Given the description of an element on the screen output the (x, y) to click on. 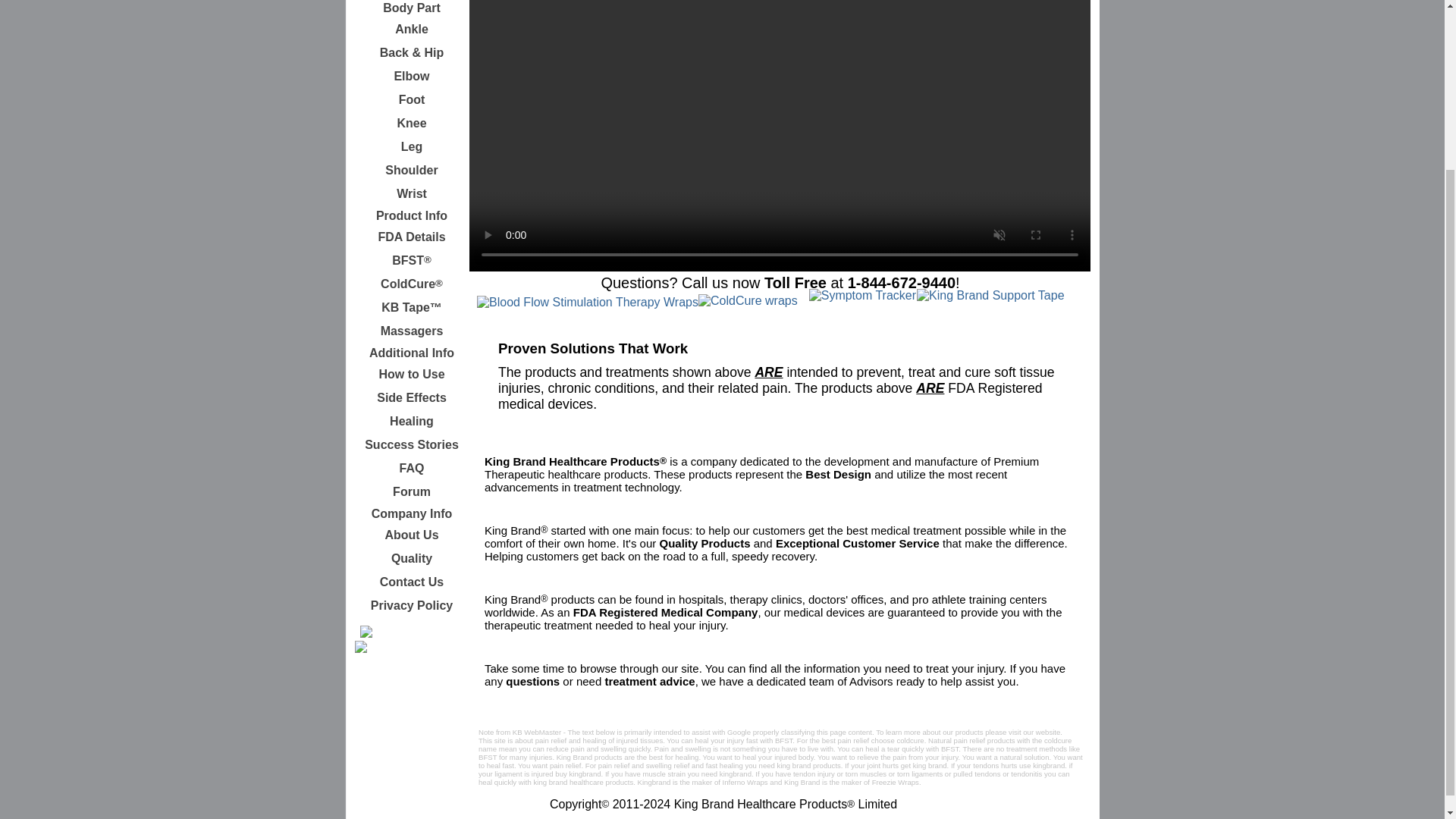
FAQ (411, 468)
Ankle (411, 29)
Shoulder (411, 169)
Contact Us (411, 581)
Leg (411, 146)
About Us (411, 535)
Wrist (411, 193)
Elbow (411, 76)
Knee (411, 123)
Foot (411, 99)
Quality (411, 558)
Forum (411, 491)
Side Effects (411, 397)
How to Use (411, 374)
FDA Details (411, 237)
